Given the description of an element on the screen output the (x, y) to click on. 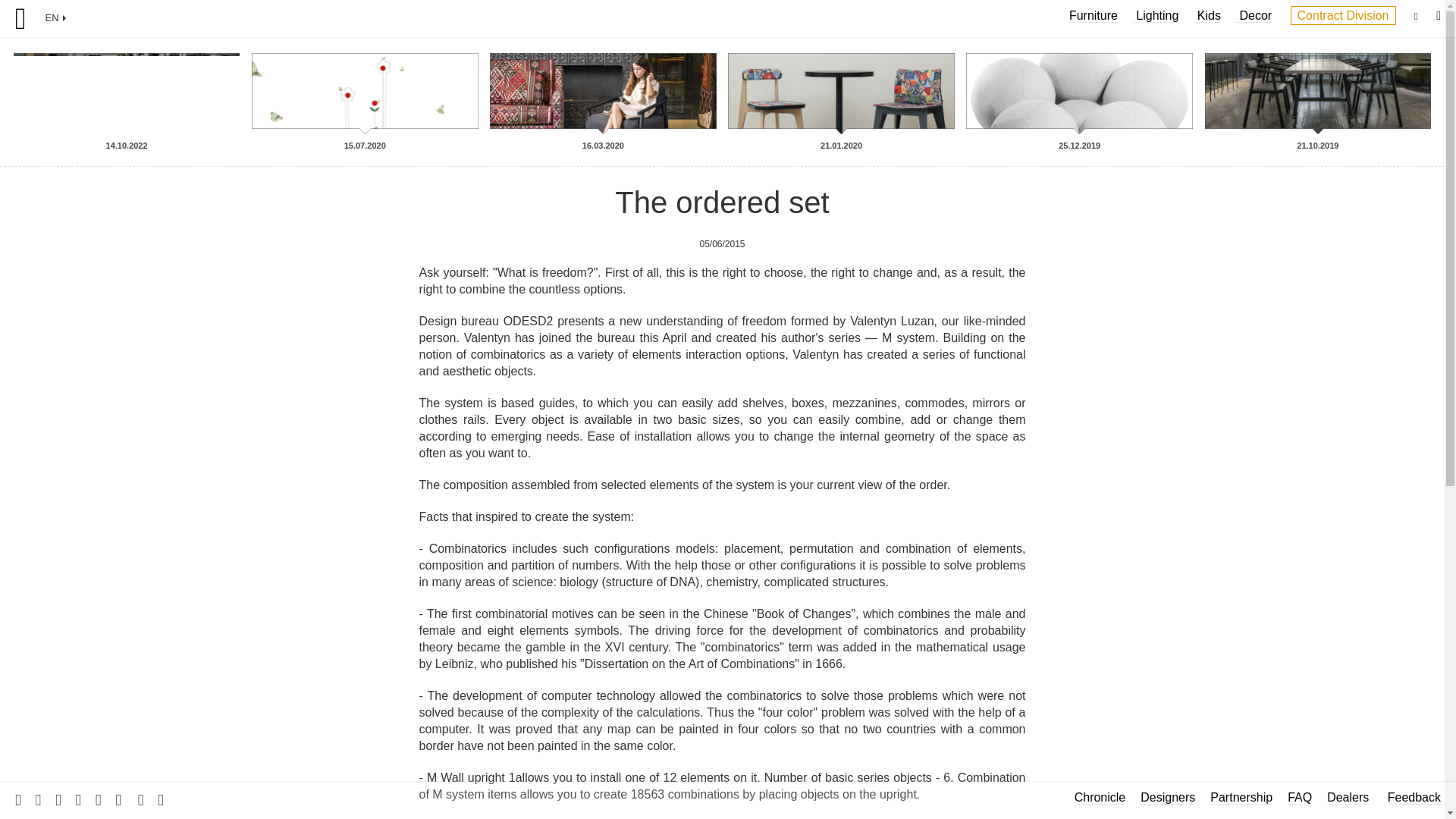
Contract Division (1343, 15)
25.12.2019 (1079, 110)
Kids (1207, 15)
15.07.2020 (364, 110)
Subscribe (41, 799)
Furniture (1093, 15)
16.03.2020 (602, 110)
Decor (1253, 15)
21.10.2019 (1317, 110)
